Given the description of an element on the screen output the (x, y) to click on. 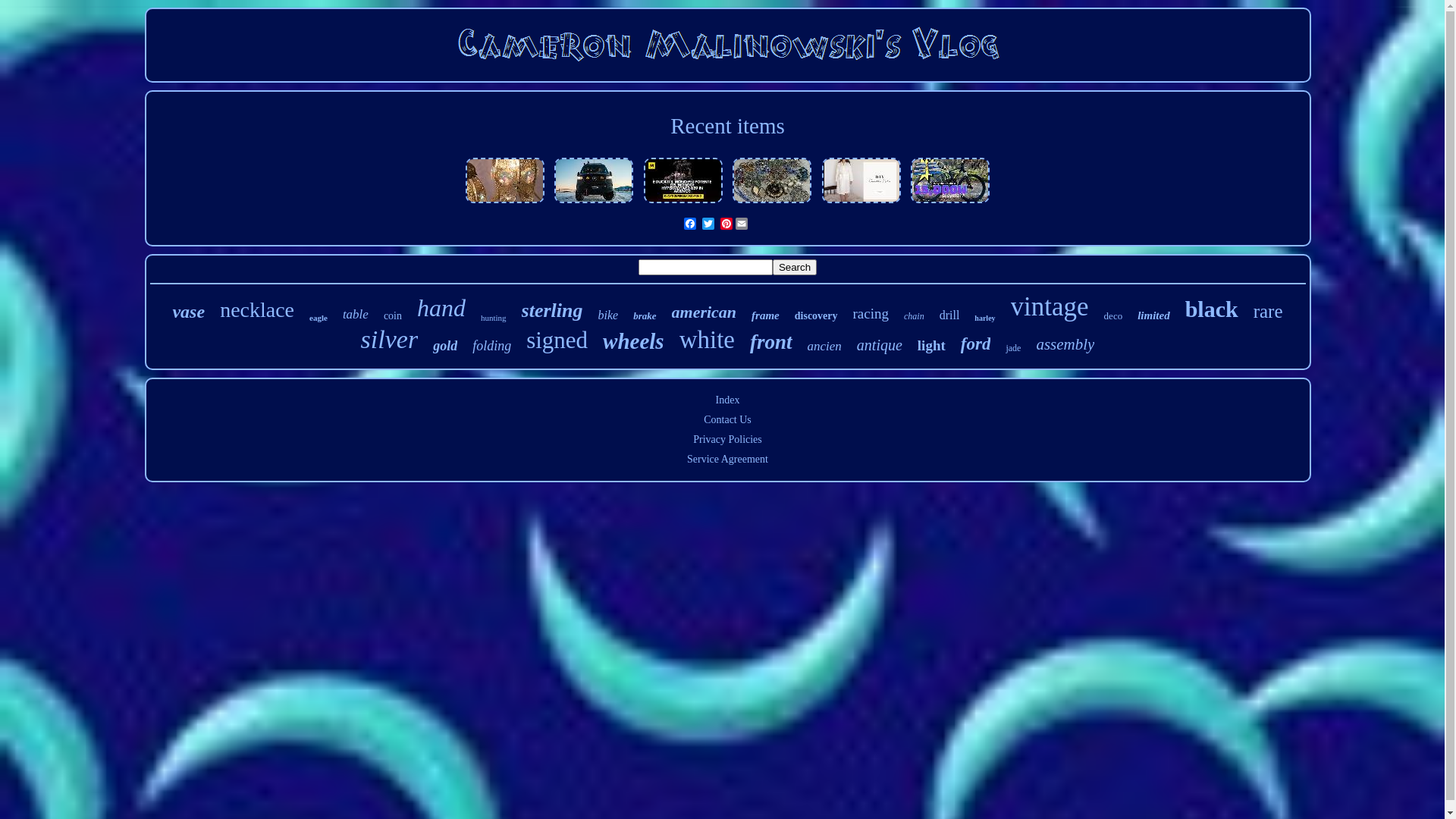
hunting Element type: text (493, 317)
hand Element type: text (441, 308)
folding Element type: text (491, 346)
deco Element type: text (1113, 316)
white Element type: text (706, 340)
eagle Element type: text (318, 317)
ford Element type: text (975, 344)
Service Agreement Element type: text (727, 458)
brake Element type: text (644, 316)
discovery Element type: text (815, 316)
Privacy Policies Element type: text (727, 439)
frame Element type: text (765, 315)
light Element type: text (931, 345)
black Element type: text (1211, 309)
Recent items Element type: text (727, 125)
front Element type: text (770, 342)
table Element type: text (355, 314)
american Element type: text (704, 312)
ancien Element type: text (824, 346)
bike Element type: text (608, 315)
vintage Element type: text (1049, 306)
drill Element type: text (949, 315)
harley Element type: text (984, 317)
rare Element type: text (1268, 311)
coin Element type: text (392, 316)
limited Element type: text (1153, 315)
silver Element type: text (389, 339)
Index Element type: text (727, 399)
chain Element type: text (913, 316)
vase Element type: text (188, 311)
racing Element type: text (870, 313)
gold Element type: text (445, 346)
assembly Element type: text (1064, 344)
Contact Us Element type: text (727, 419)
wheels Element type: text (633, 341)
Pinterest Element type: text (726, 223)
jade Element type: text (1012, 348)
signed Element type: text (556, 340)
antique Element type: text (879, 345)
Search Element type: text (794, 267)
sterling Element type: text (552, 310)
necklace Element type: text (256, 310)
